Given the description of an element on the screen output the (x, y) to click on. 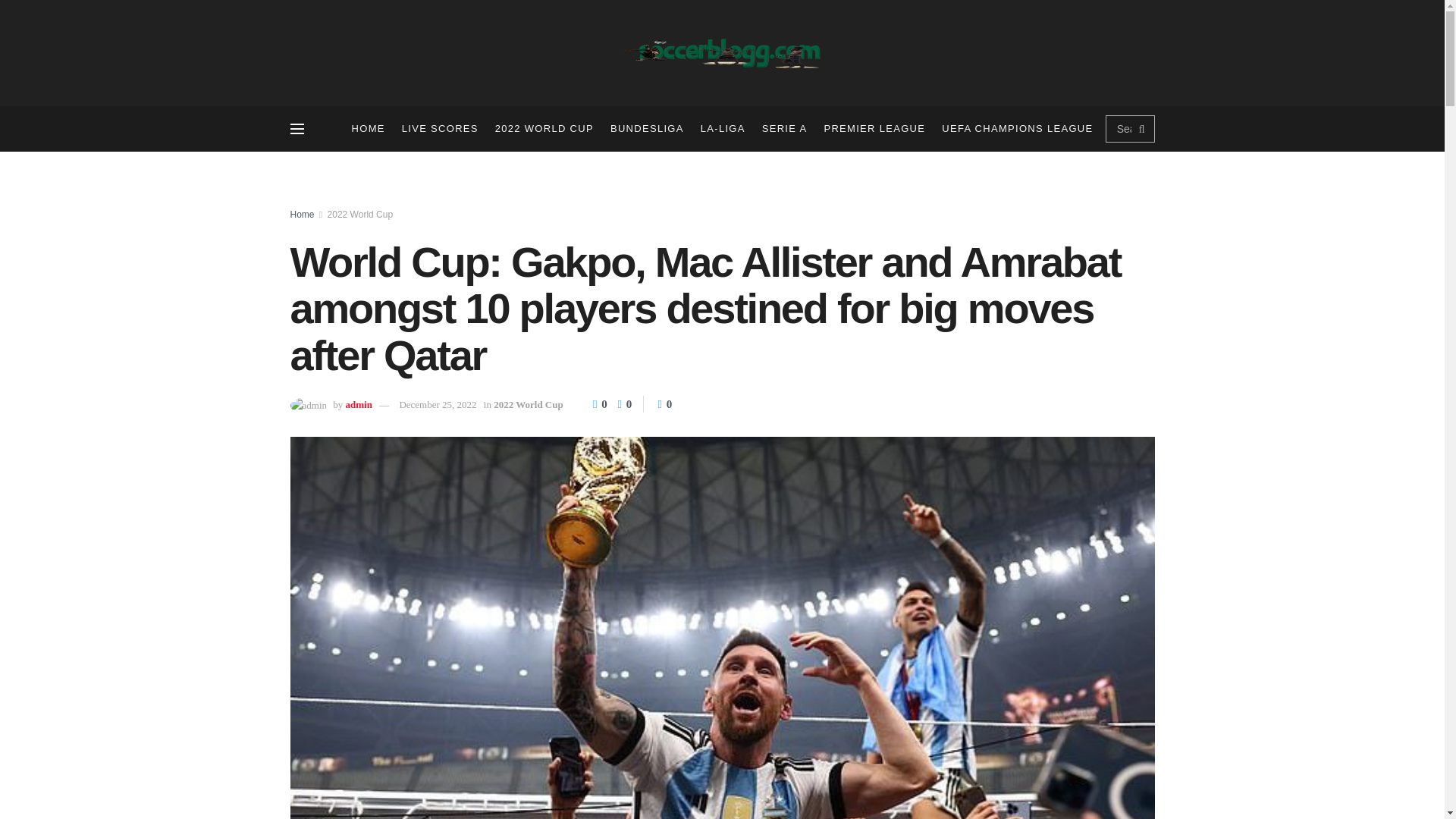
PREMIER LEAGUE (874, 128)
December 25, 2022 (437, 404)
0 (664, 404)
0 (601, 404)
UEFA CHAMPIONS LEAGUE (1017, 128)
LIVE SCORES (440, 128)
admin (359, 404)
SERIE A (784, 128)
2022 World Cup (528, 404)
2022 WORLD CUP (544, 128)
2022 World Cup (360, 214)
LA-LIGA (722, 128)
0 (620, 404)
BUNDESLIGA (647, 128)
Home (301, 214)
